Given the description of an element on the screen output the (x, y) to click on. 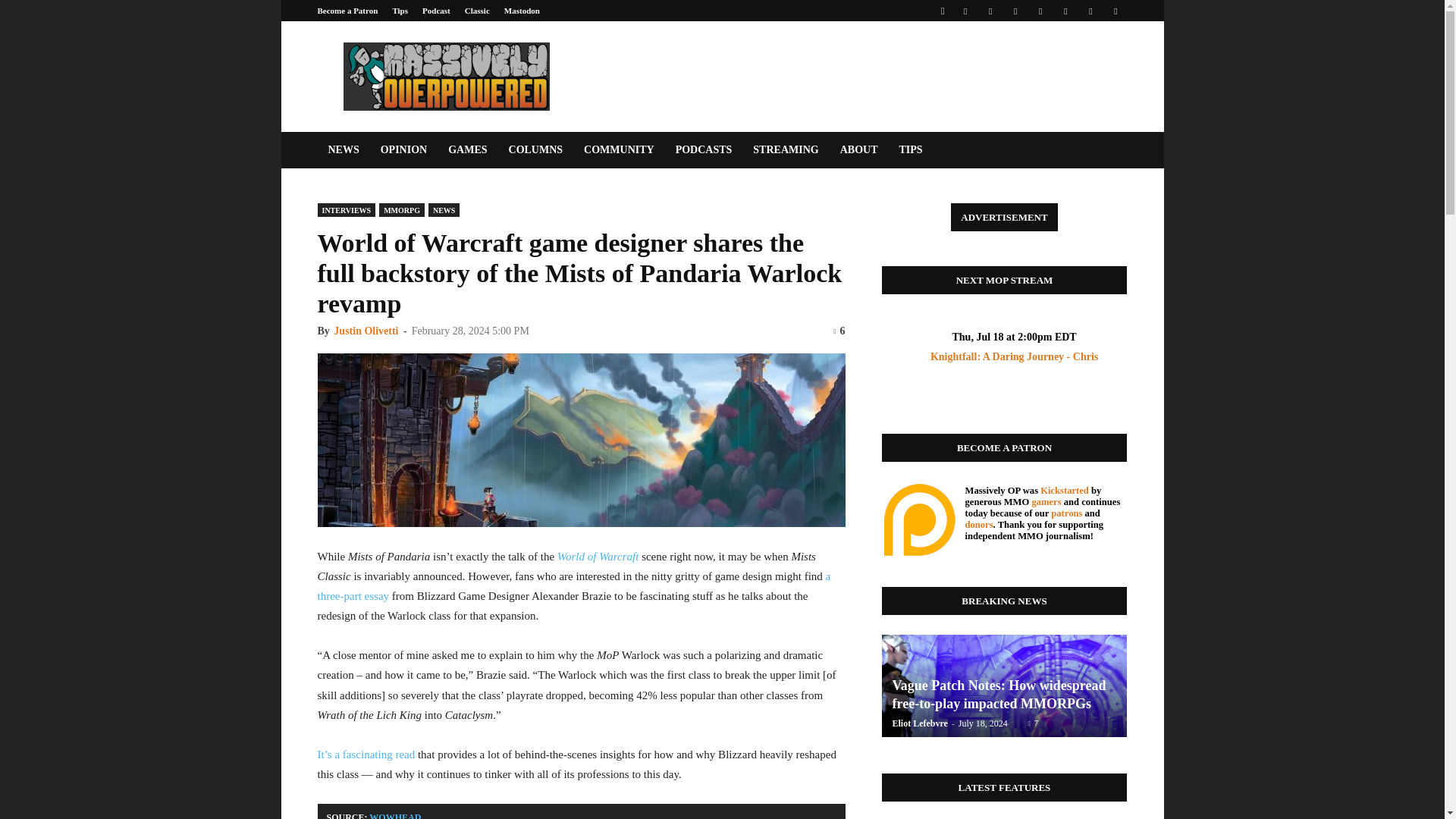
Youtube (1114, 10)
Patreon (989, 10)
MassivelyOP.com (445, 76)
Twitch (1065, 10)
Twitter (1090, 10)
Paypal (1015, 10)
Facebook (964, 10)
RSS (1040, 10)
